Given the description of an element on the screen output the (x, y) to click on. 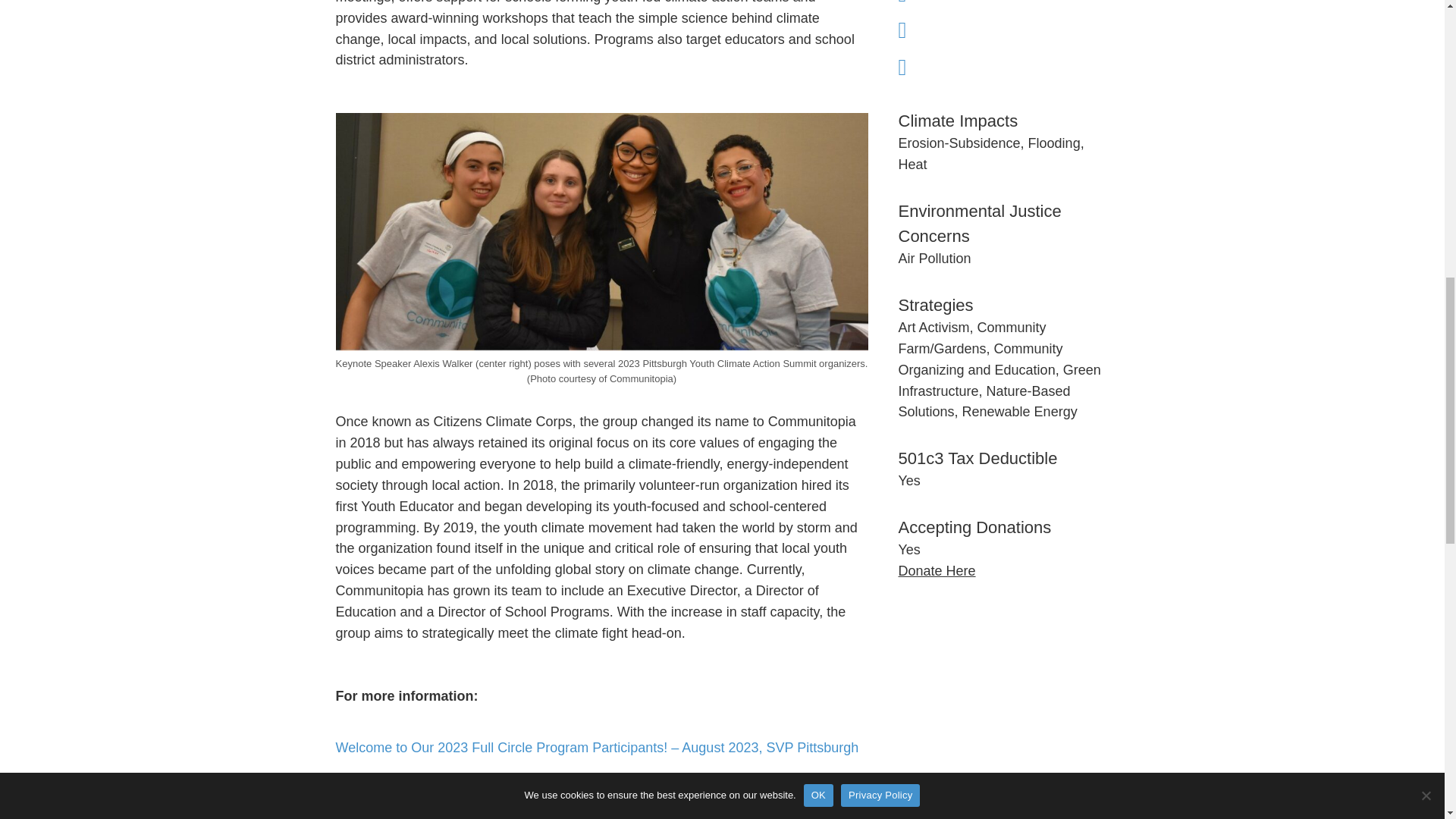
Donate Here (936, 570)
Donate Here (936, 570)
